Given the description of an element on the screen output the (x, y) to click on. 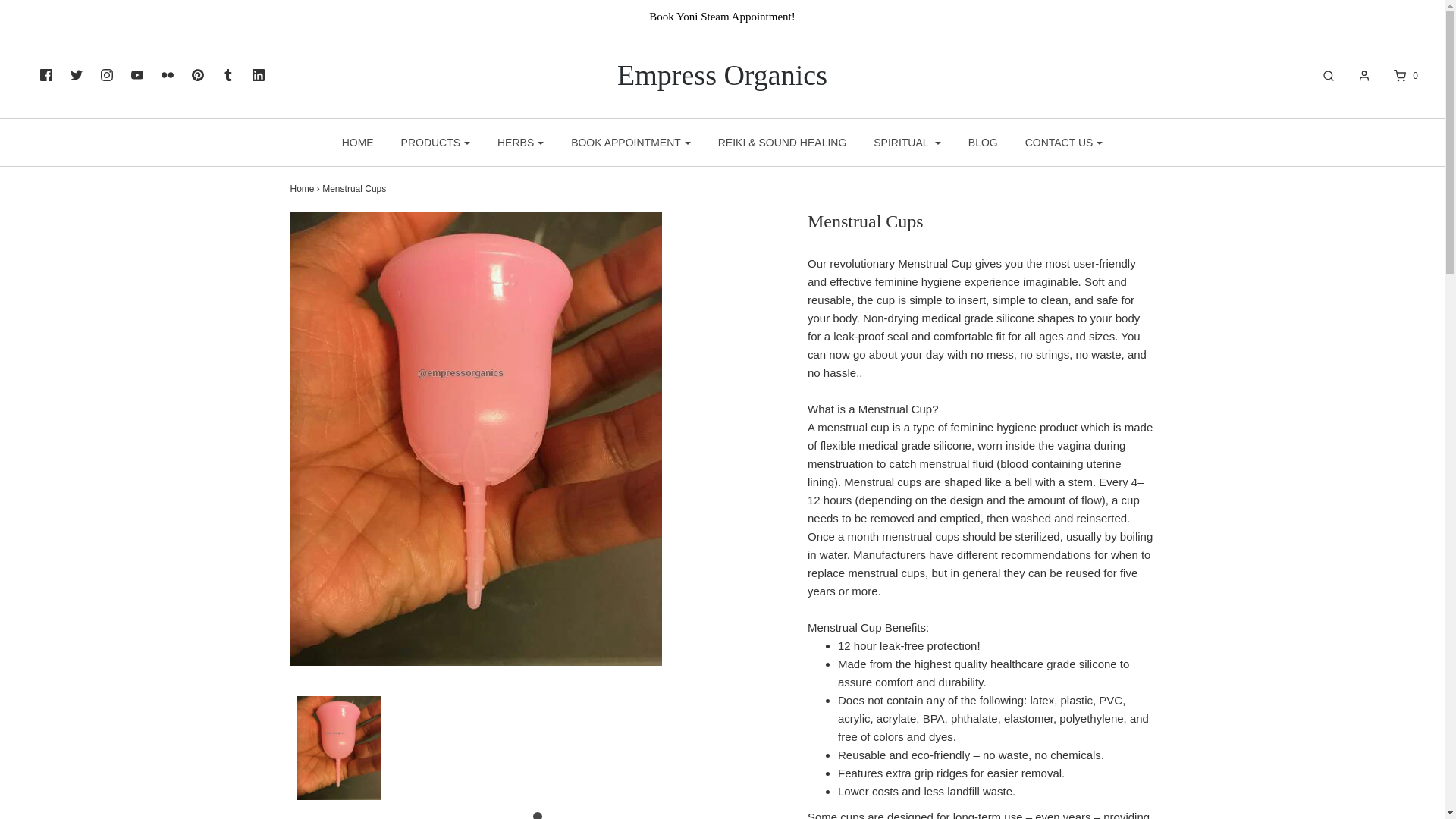
Tumblr icon (228, 74)
Facebook icon (46, 74)
Pinterest icon (197, 74)
LinkedIn icon (258, 74)
Back to the frontpage (301, 188)
Search (1321, 75)
Search (1426, 9)
Twitter icon (76, 74)
Flickr icon (167, 74)
YouTube icon (136, 74)
Cart (1396, 75)
Instagram icon (107, 74)
Log in (1356, 75)
Book Yoni Steam Appointment! (722, 16)
